Given the description of an element on the screen output the (x, y) to click on. 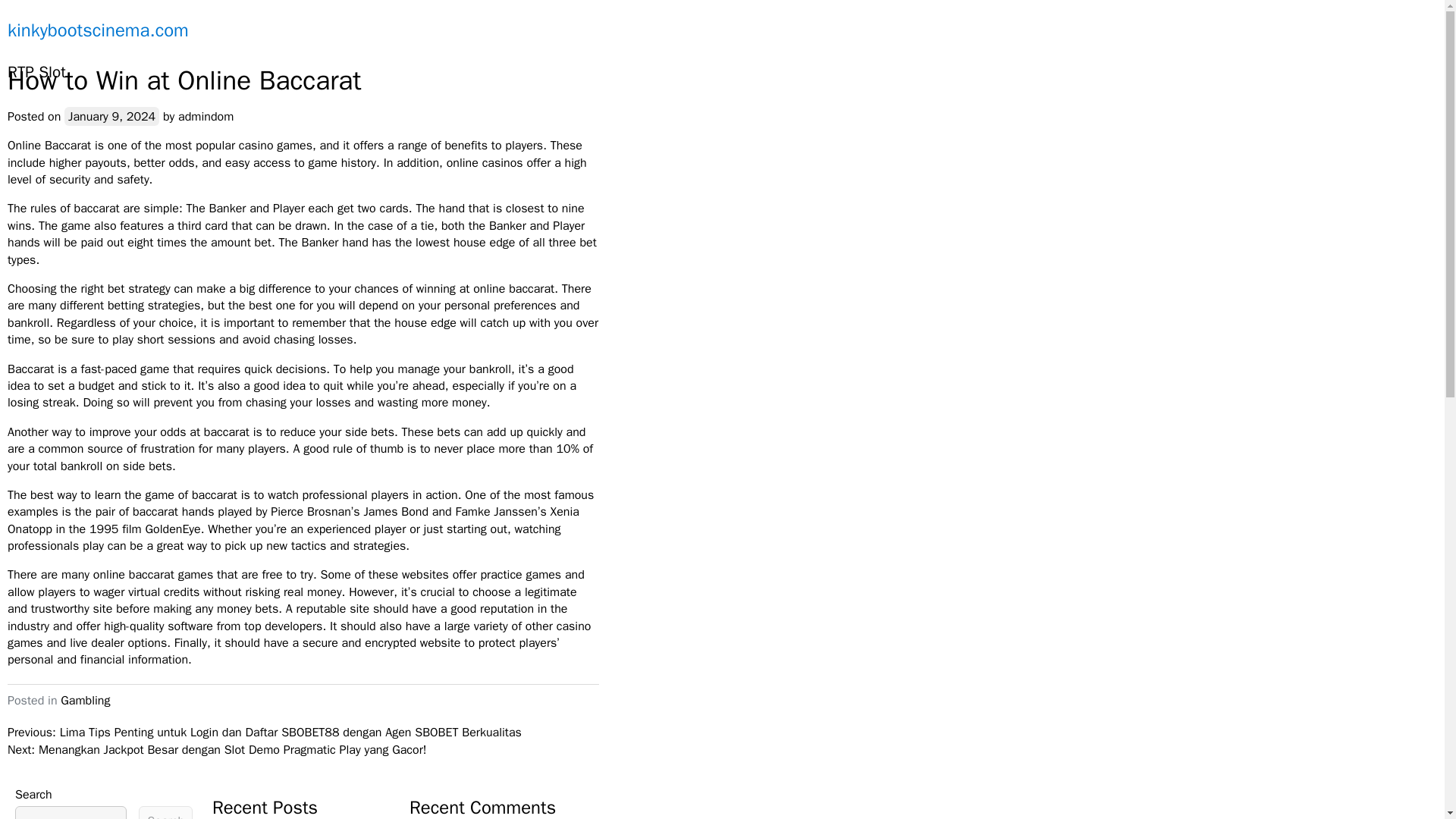
kinkybootscinema.com (98, 29)
admindom (204, 116)
January 9, 2024 (111, 116)
RTP Slot (36, 73)
Gambling (85, 700)
Search (165, 812)
